Given the description of an element on the screen output the (x, y) to click on. 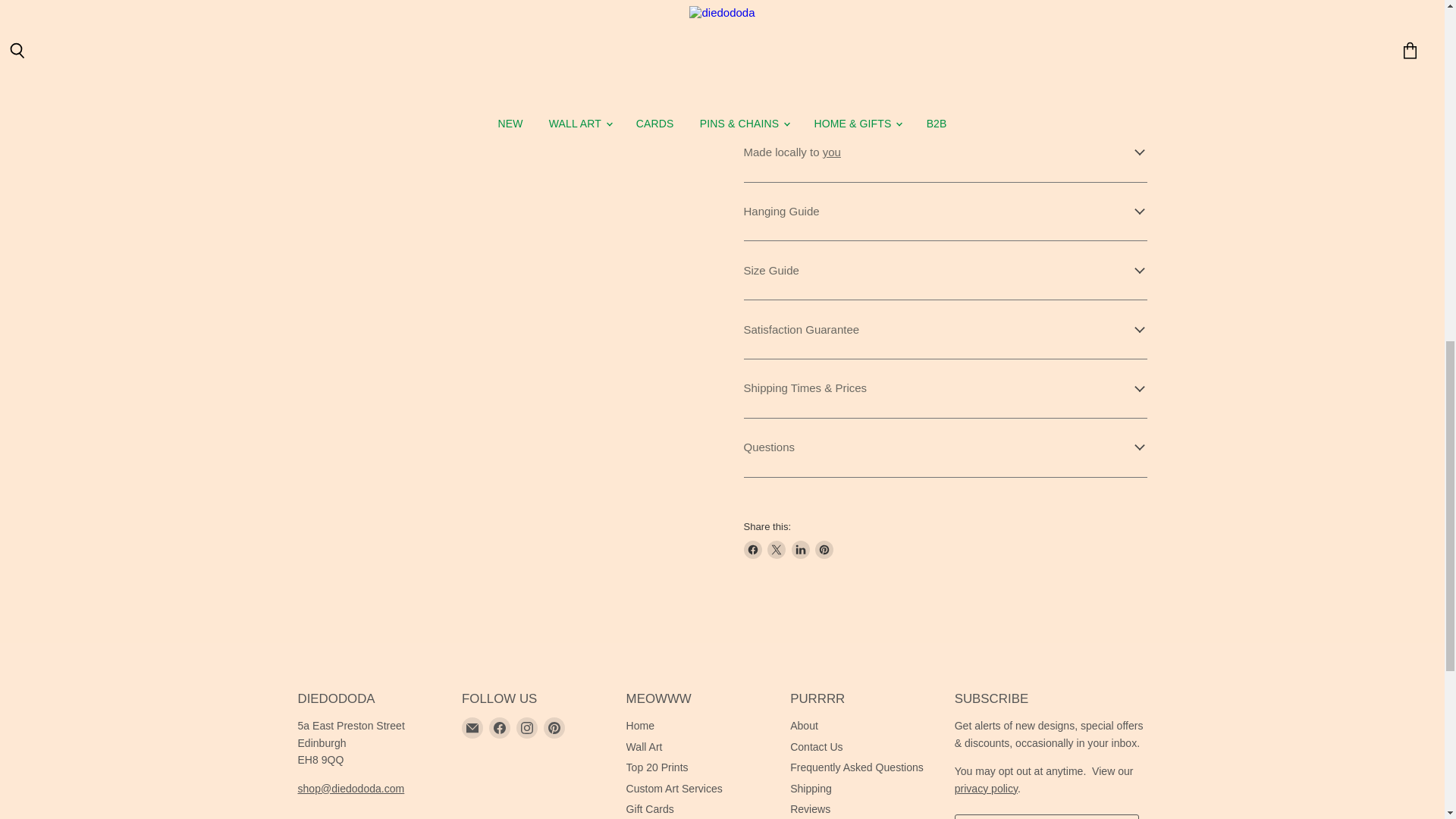
E-mail (472, 728)
Instagram (526, 728)
Facebook (499, 728)
Pinterest (553, 728)
Privacy Policy (986, 788)
